Given the description of an element on the screen output the (x, y) to click on. 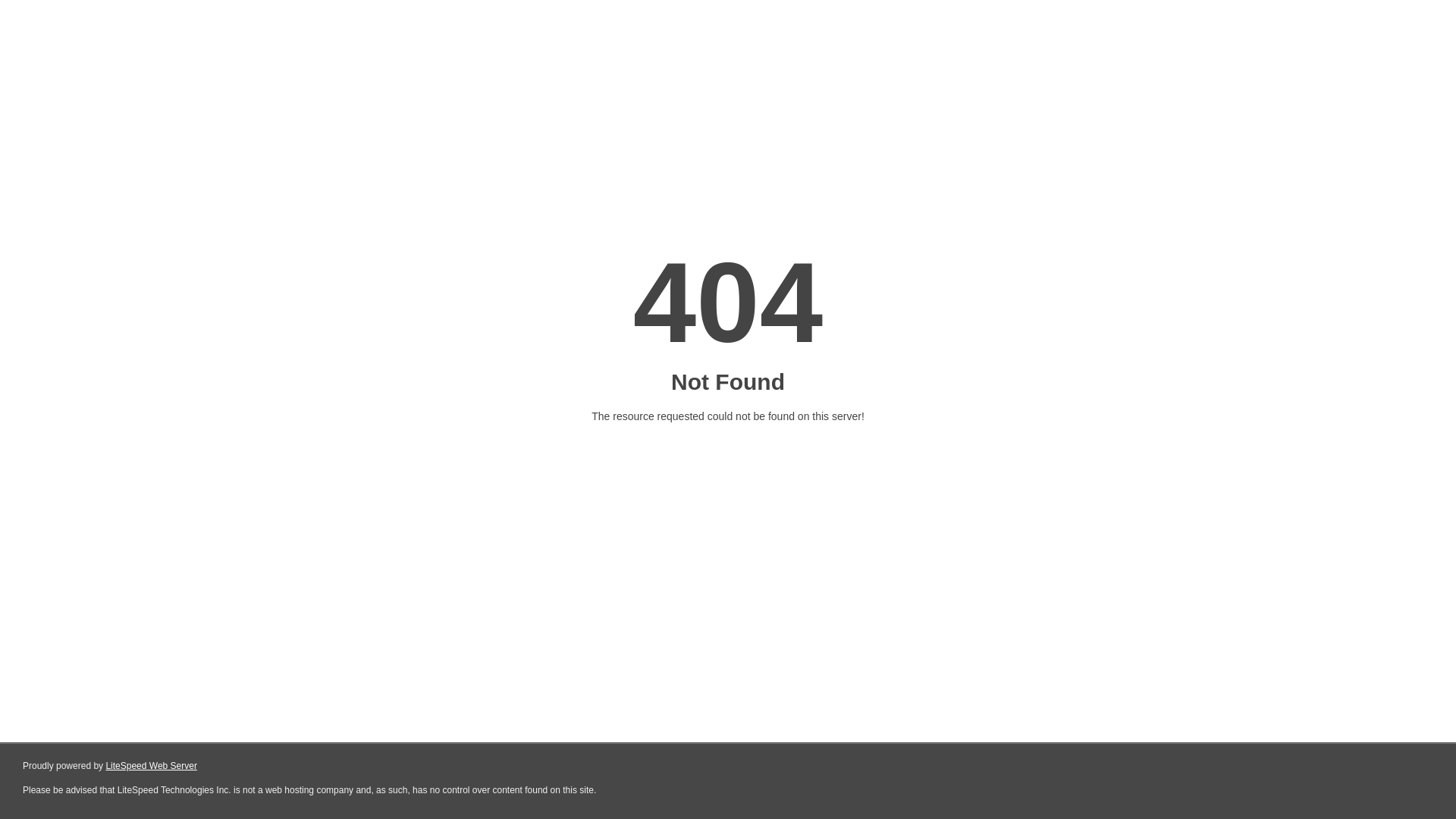
LiteSpeed Web Server Element type: text (151, 765)
